Given the description of an element on the screen output the (x, y) to click on. 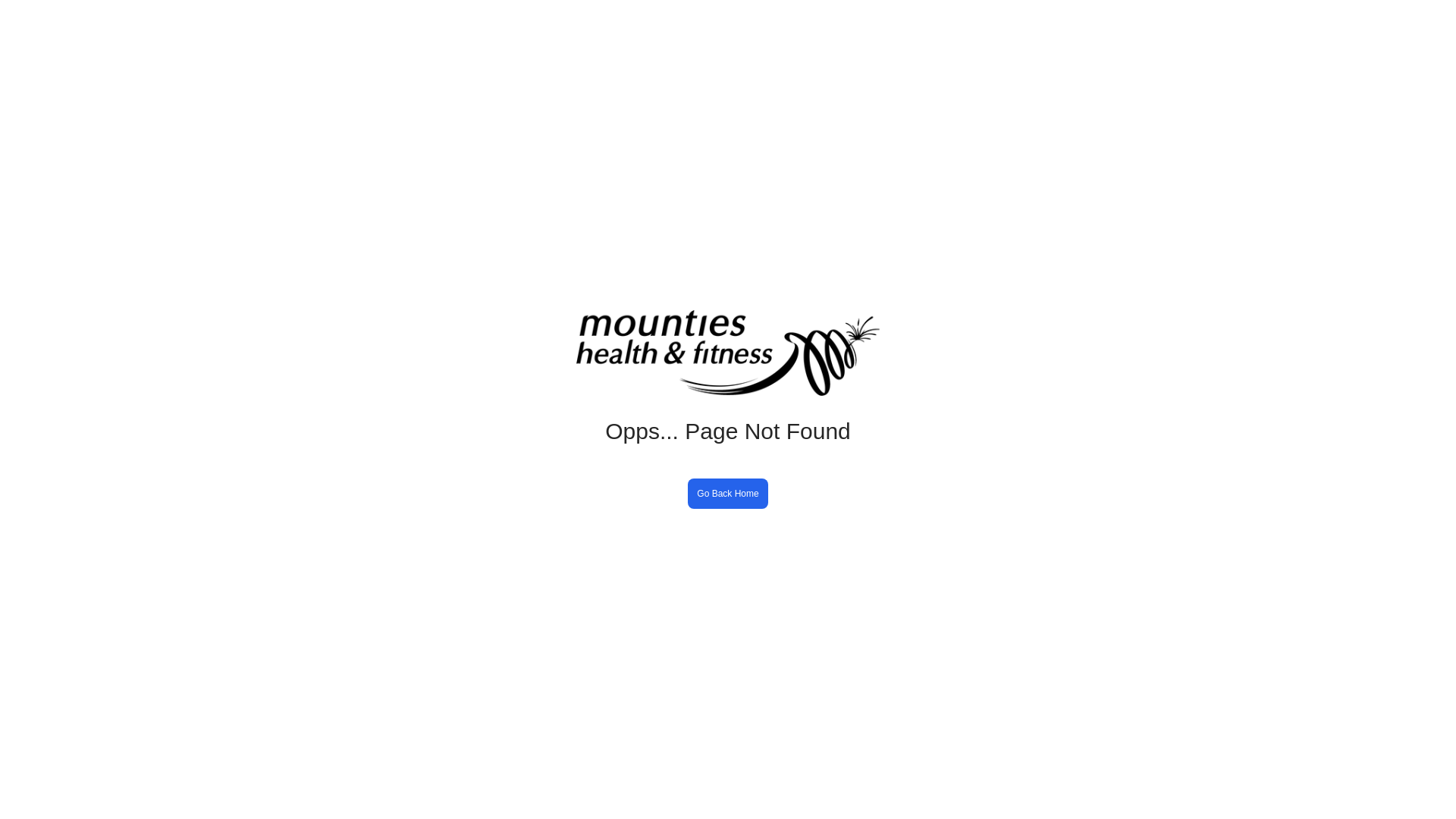
Go Back Home Element type: text (727, 493)
